Given the description of an element on the screen output the (x, y) to click on. 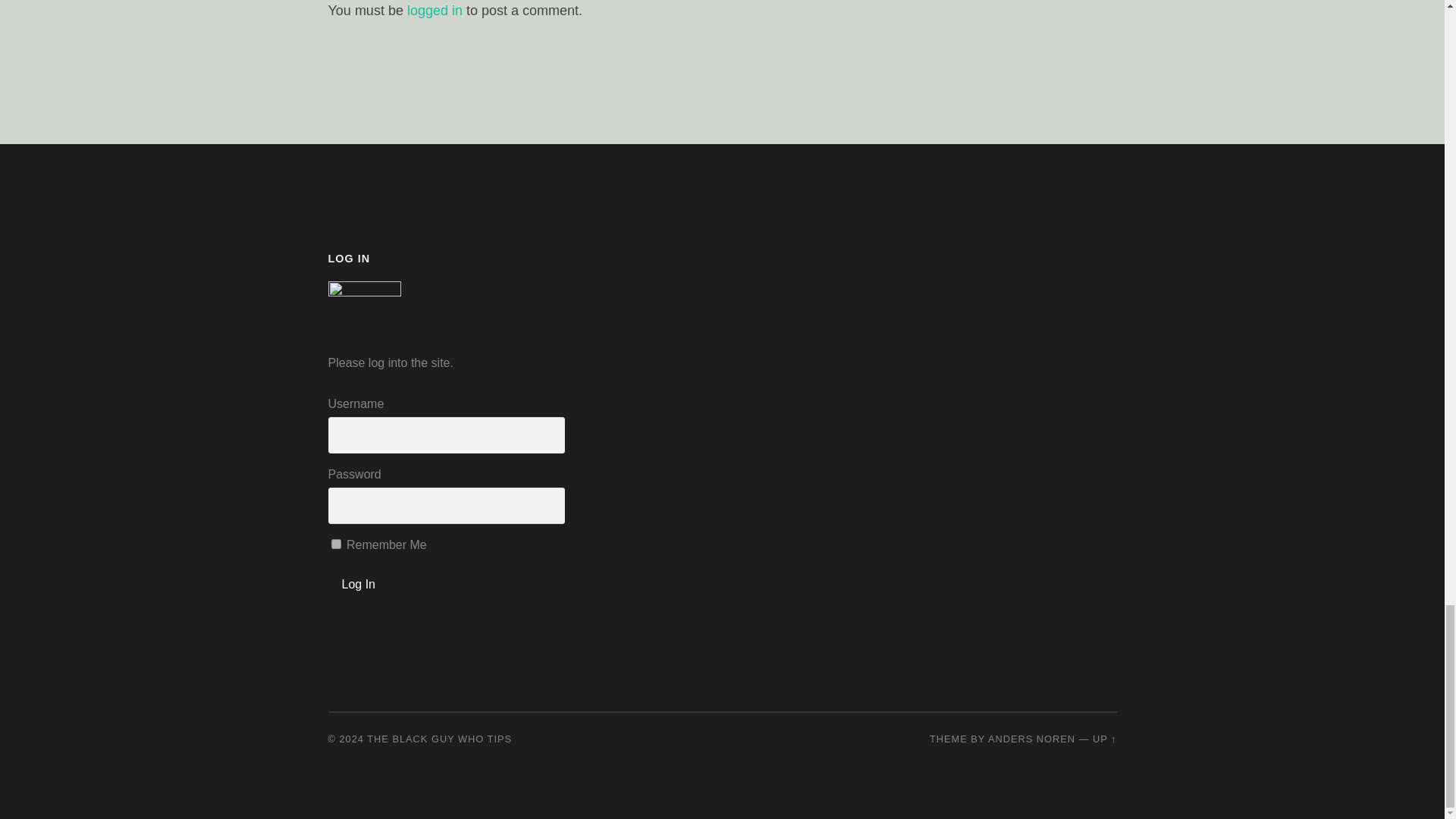
Log In (357, 584)
logged in (435, 10)
forever (335, 543)
To the top (1104, 737)
